Given the description of an element on the screen output the (x, y) to click on. 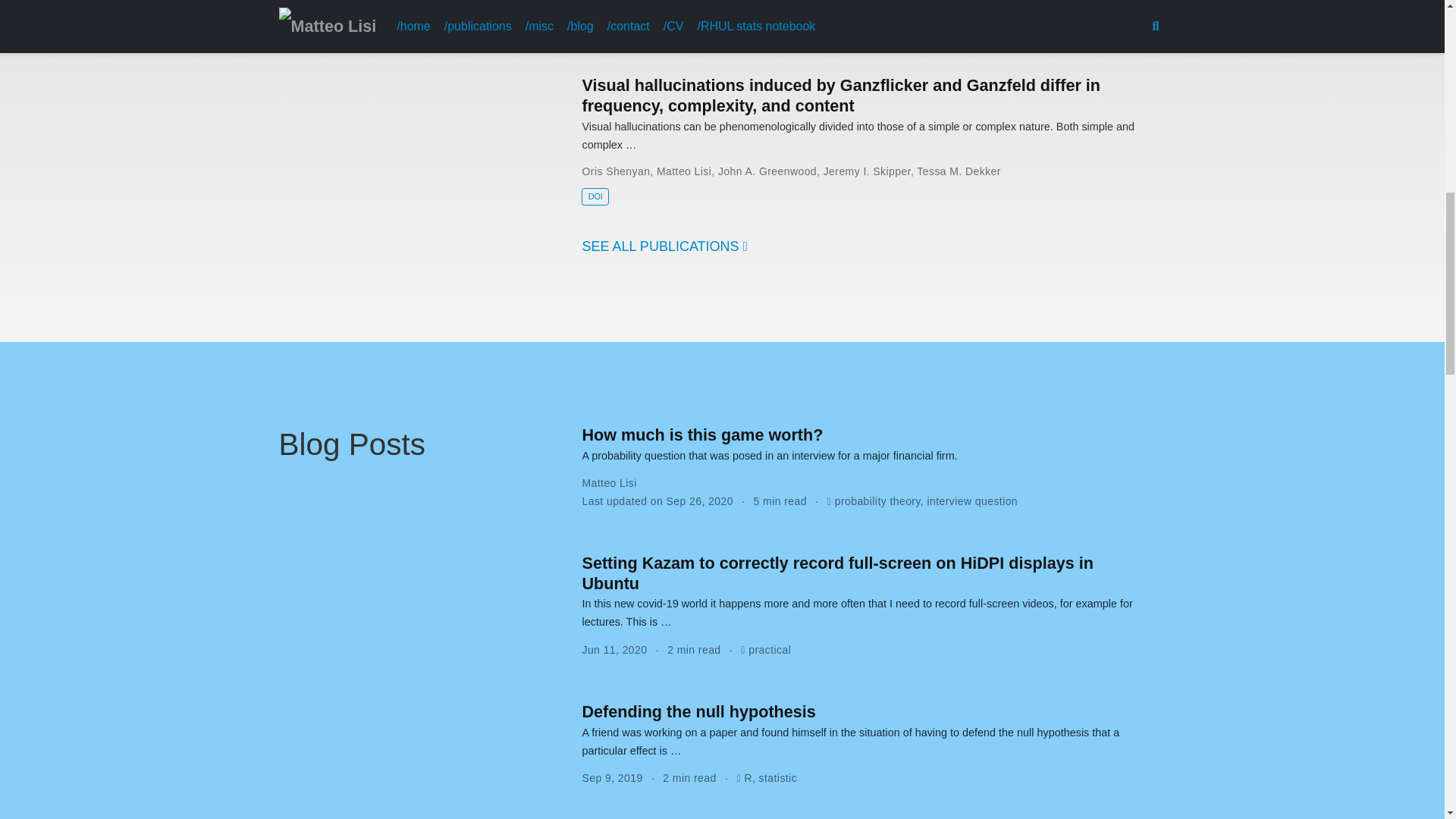
Michalek, Julia (618, 10)
